Given the description of an element on the screen output the (x, y) to click on. 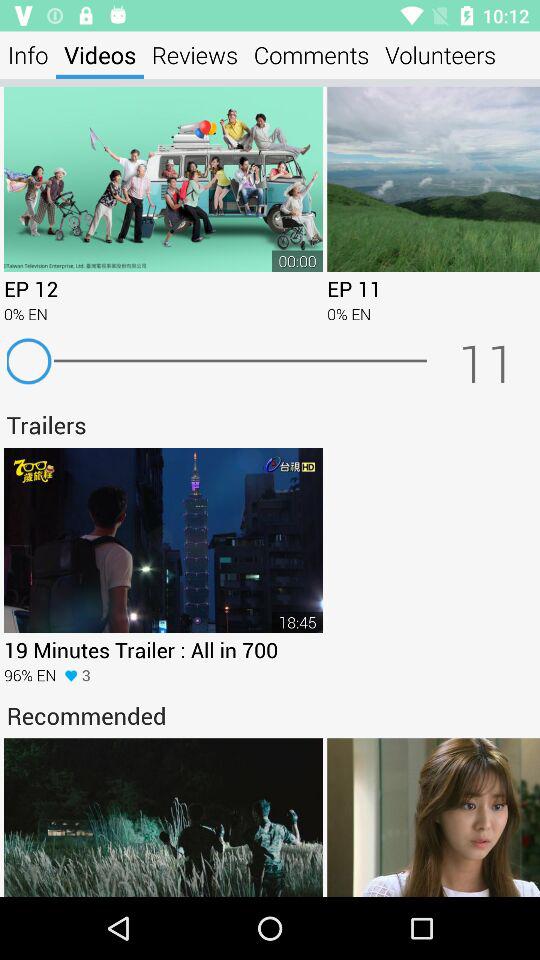
click the item next to the comments (440, 54)
